Given the description of an element on the screen output the (x, y) to click on. 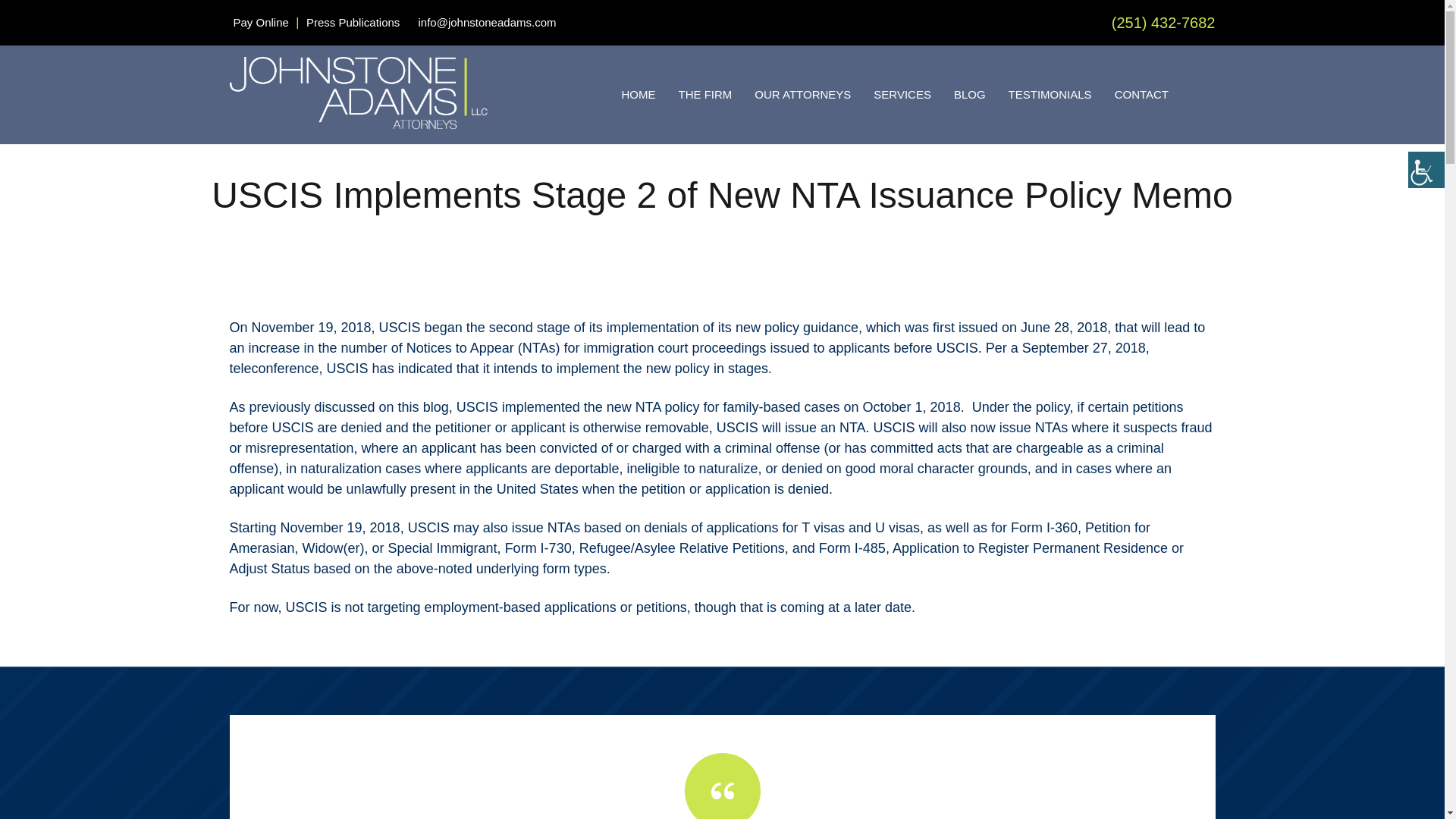
HOME (638, 94)
THE FIRM (705, 94)
Press Publications (352, 21)
Pay Online (260, 21)
CONTACT (1141, 94)
BLOG (969, 94)
SERVICES (901, 94)
TESTIMONIALS (1050, 94)
OUR ATTORNEYS (801, 94)
